Given the description of an element on the screen output the (x, y) to click on. 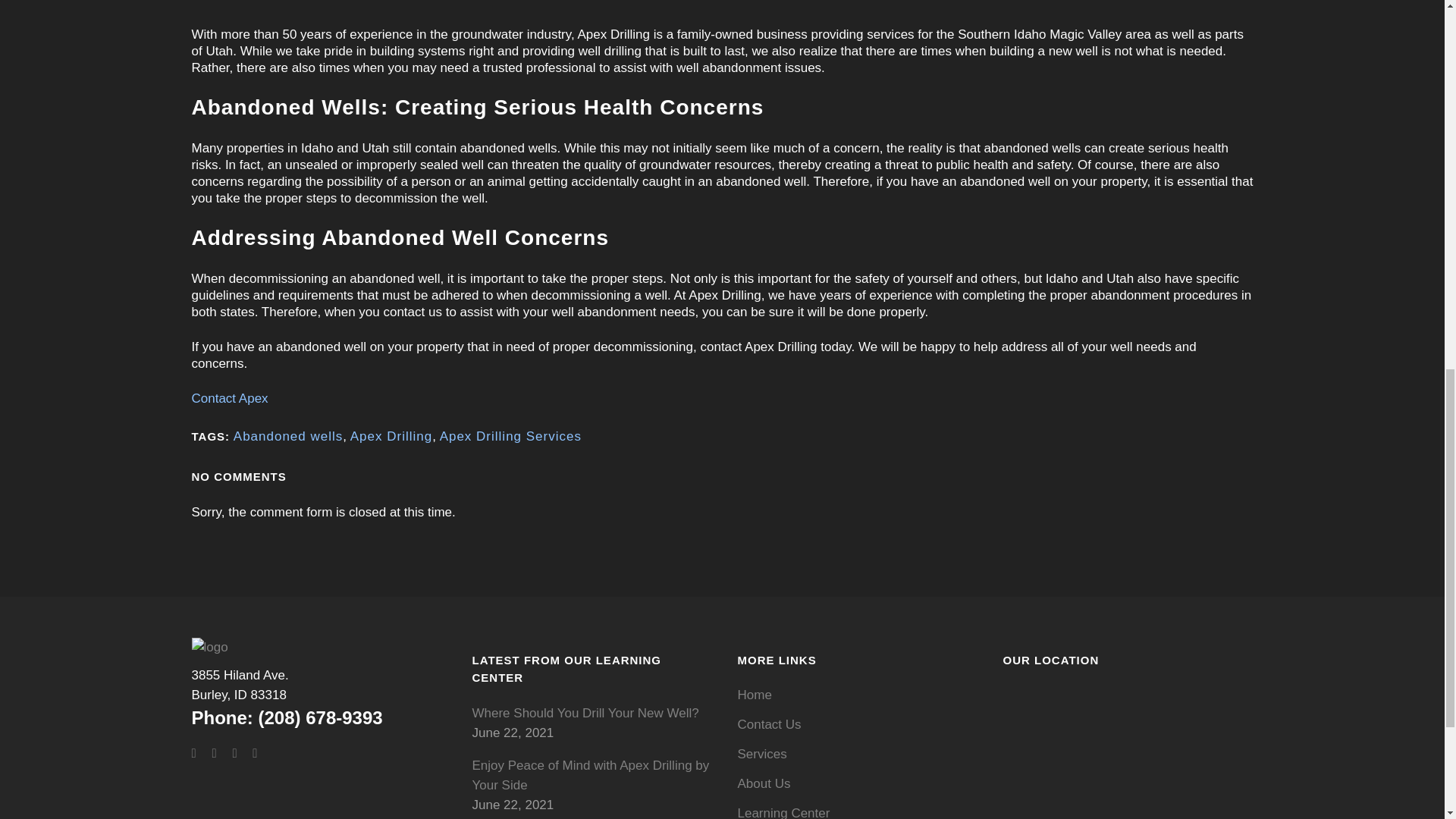
Apex Drilling (391, 436)
Abandoned wells (239, 684)
Contact Apex (287, 436)
Apex Drilling Services (228, 398)
